Given the description of an element on the screen output the (x, y) to click on. 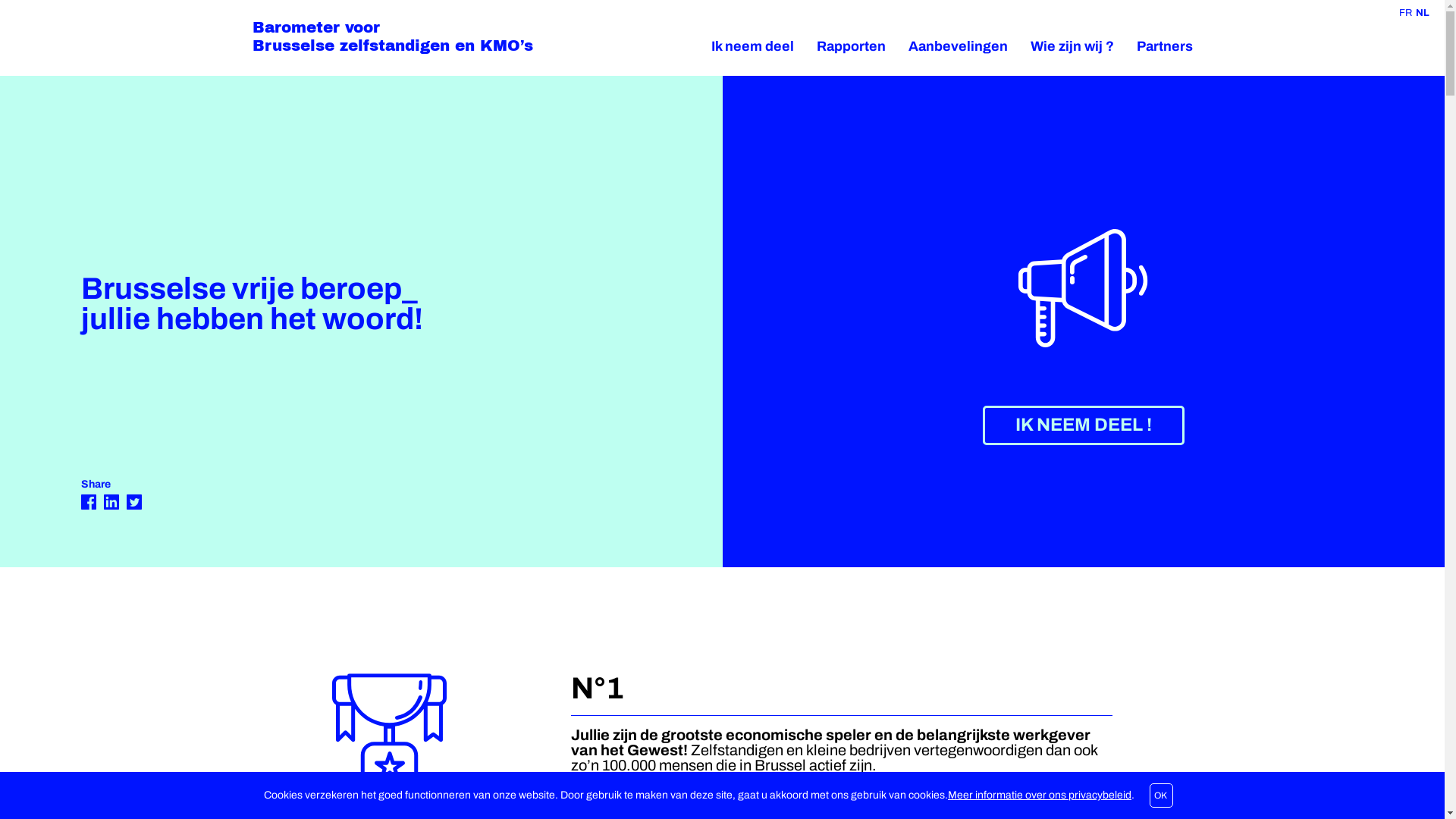
Rapporten Element type: text (849, 46)
Partners Element type: text (1163, 46)
Ik neem deel Element type: text (752, 46)
Meer informatie over ons privacybeleid Element type: text (1039, 795)
Fill 33 Created with Sketch. Element type: text (111, 504)
Aanbevelingen Element type: text (957, 46)
Combined Shape Created with Sketch. Element type: text (133, 504)
Wie zijn wij ? Element type: text (1071, 46)
FR Element type: text (1405, 12)
IK NEEM DEEL Element type: text (1083, 425)
Fill 3 Created with Sketch. Element type: text (88, 504)
OK Element type: text (1161, 795)
NL Element type: text (1422, 12)
